Given the description of an element on the screen output the (x, y) to click on. 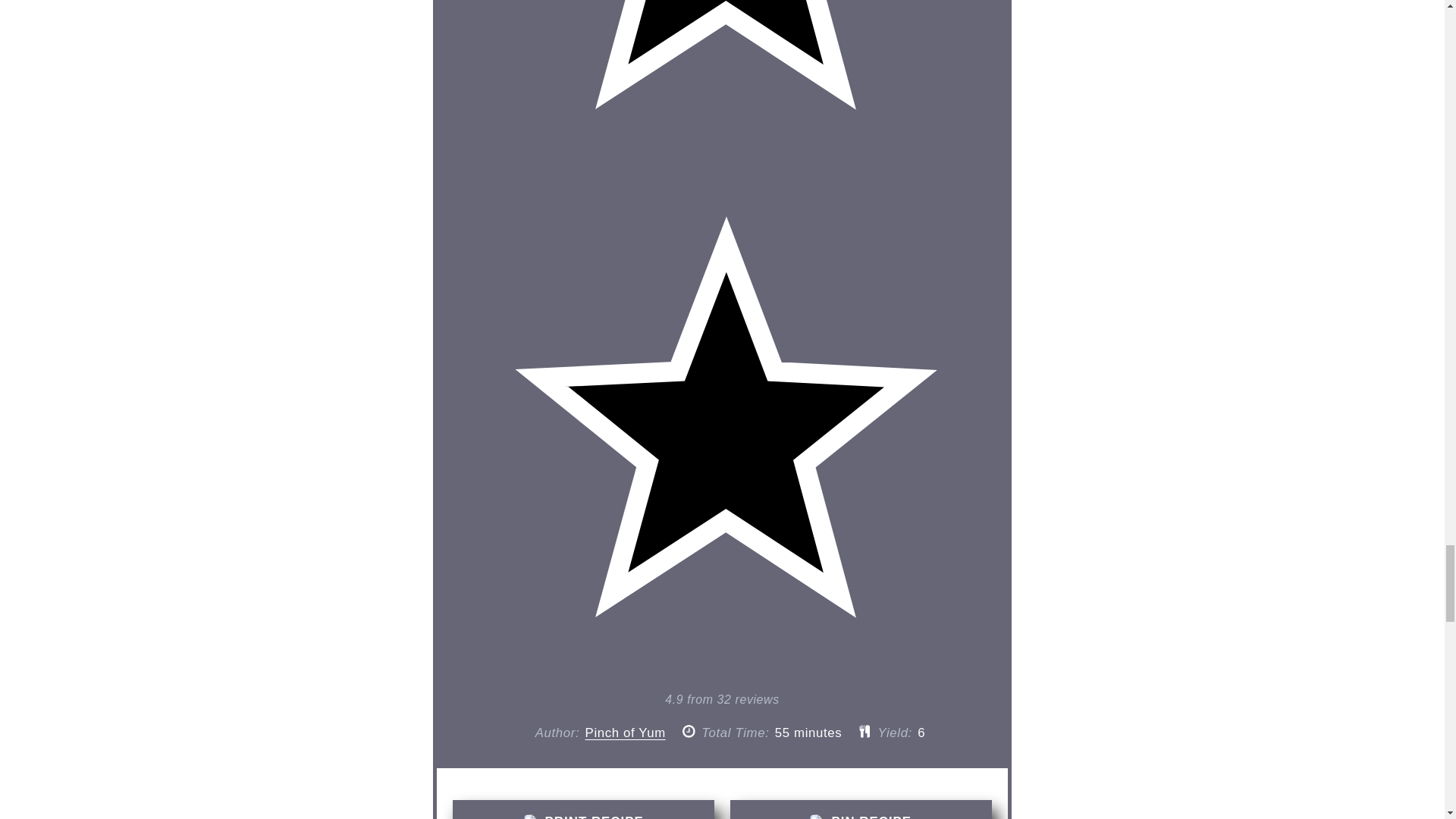
Pinch of Yum (625, 732)
PIN RECIPE (860, 809)
PRINT RECIPE (583, 809)
